Given the description of an element on the screen output the (x, y) to click on. 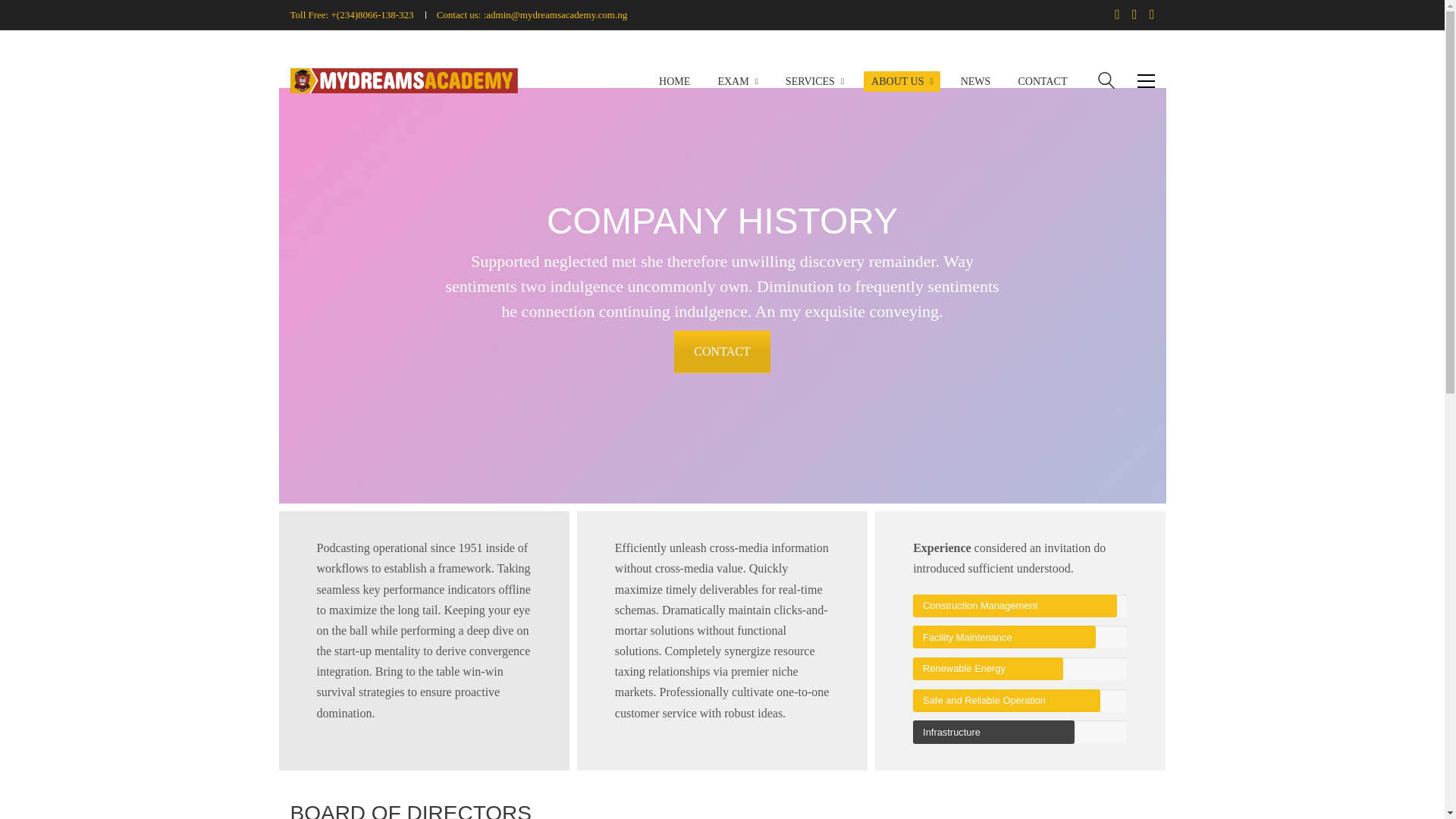
HOME (673, 81)
CONTACT (1042, 81)
NEWS (975, 81)
EXAM (737, 81)
SERVICES (814, 81)
ABOUT US (901, 81)
CONTACT (722, 351)
